Given the description of an element on the screen output the (x, y) to click on. 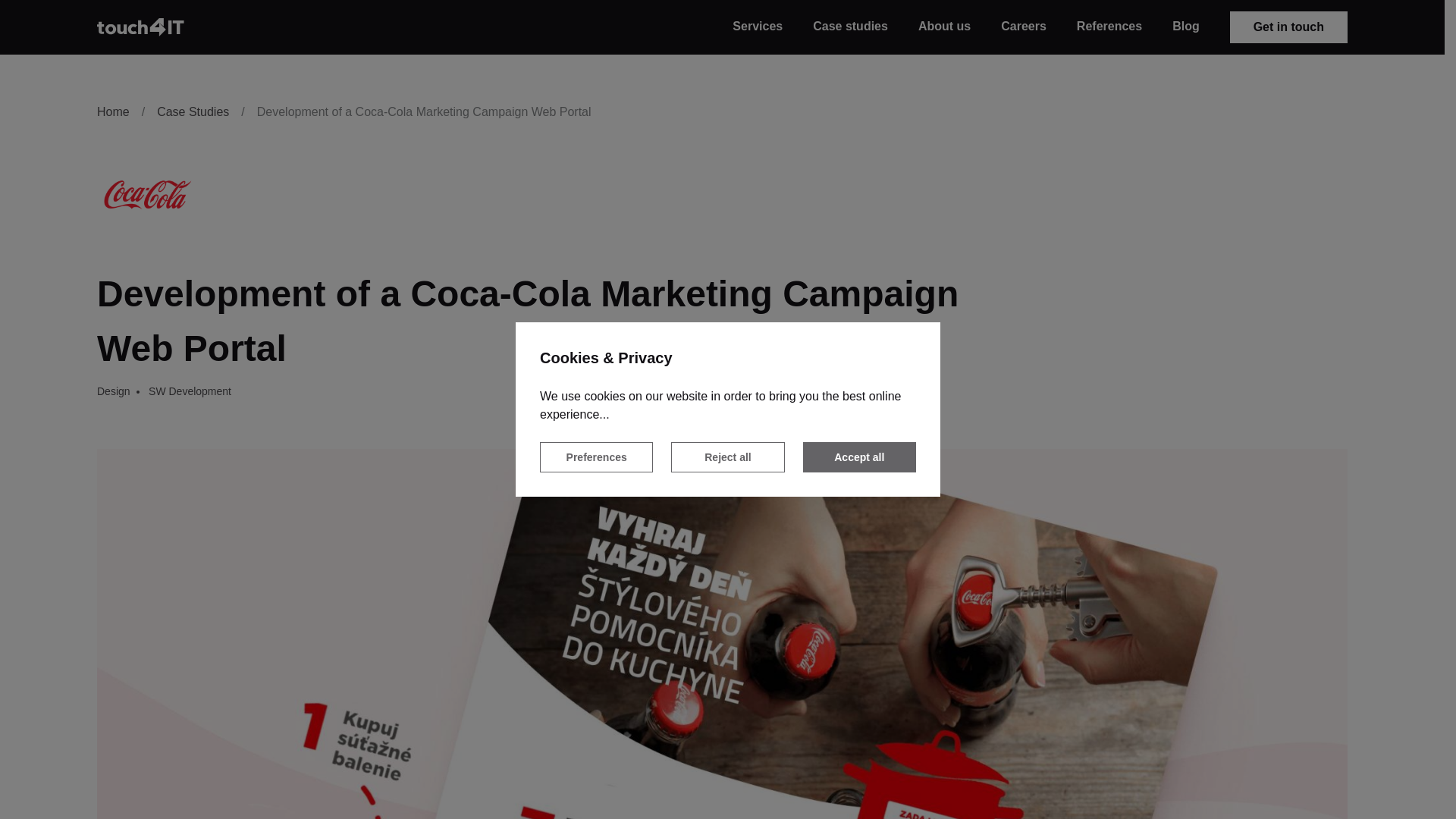
Case studies (850, 25)
Case Studies (192, 112)
Blog (1185, 25)
Careers (1023, 25)
Home (113, 112)
Get in touch (1289, 26)
References (1109, 25)
Services (757, 25)
About us (944, 25)
Coca-Cola logo (145, 193)
